Given the description of an element on the screen output the (x, y) to click on. 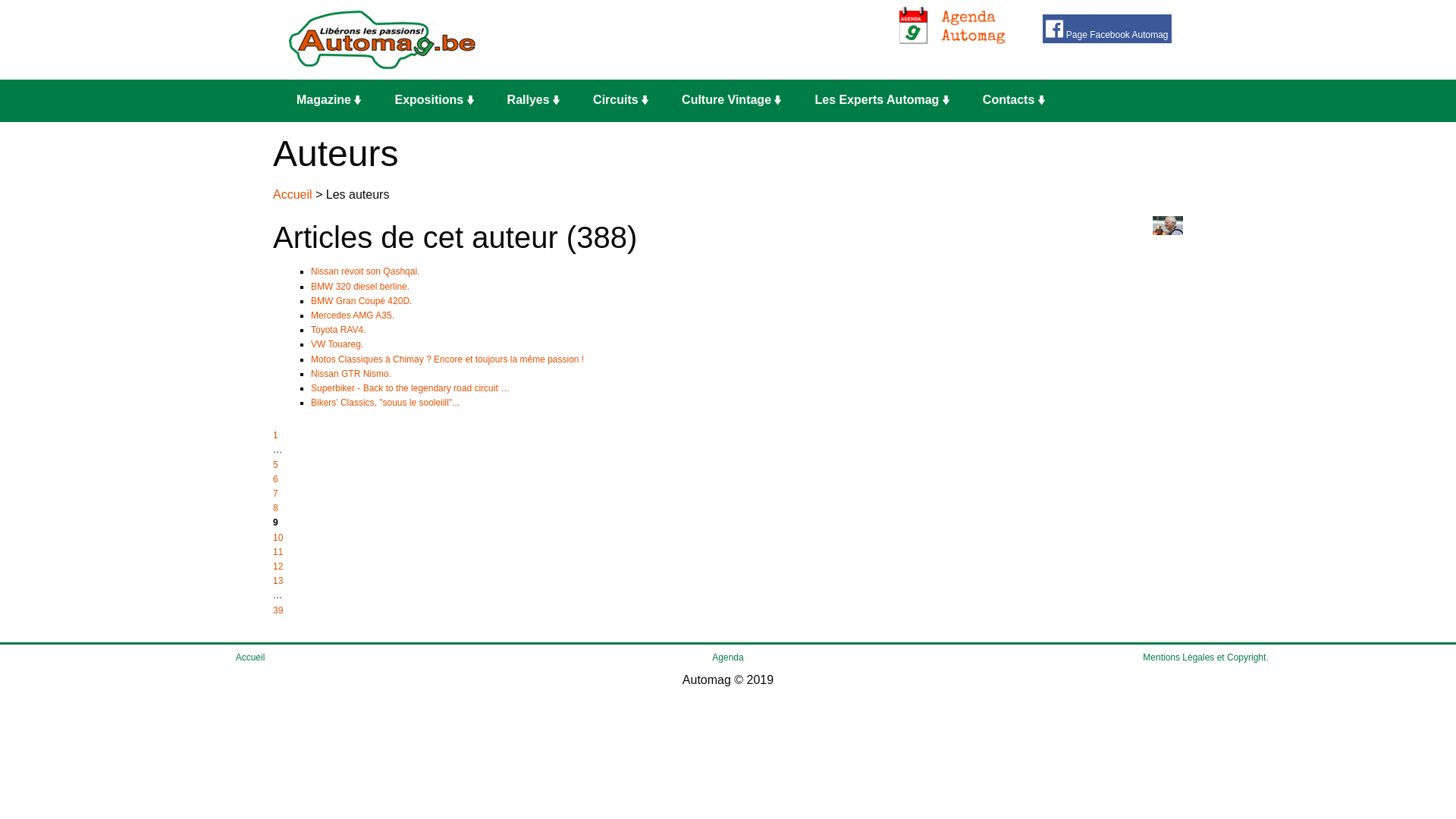
Mercedes AMG A35. Element type: text (352, 315)
39 Element type: text (277, 610)
Toyota RAV4. Element type: text (337, 329)
Contacts Element type: text (1018, 100)
Accueil Element type: text (292, 194)
8 Element type: text (275, 507)
Rallyes Element type: text (537, 100)
Nissan GTR Nismo. Element type: text (350, 373)
Magazine Element type: text (333, 100)
Advertisement Element type: hover (739, 40)
BMW 320 diesel berline. Element type: text (359, 286)
6 Element type: text (275, 478)
Culture Vintage Element type: text (735, 100)
11 Element type: text (277, 551)
Agenda Element type: text (727, 657)
Circuits Element type: text (624, 100)
Nissan revoit son Qashqai. Element type: text (364, 271)
13 Element type: text (277, 580)
12 Element type: text (277, 566)
Expositions Element type: text (438, 100)
Page Facebook Automag Element type: text (1106, 28)
Accueil Element type: text (250, 657)
10 Element type: text (277, 537)
Les Experts Automag Element type: text (885, 100)
1 Element type: text (275, 434)
5 Element type: text (275, 464)
VW Touareg. Element type: text (336, 343)
7 Element type: text (275, 493)
